Given the description of an element on the screen output the (x, y) to click on. 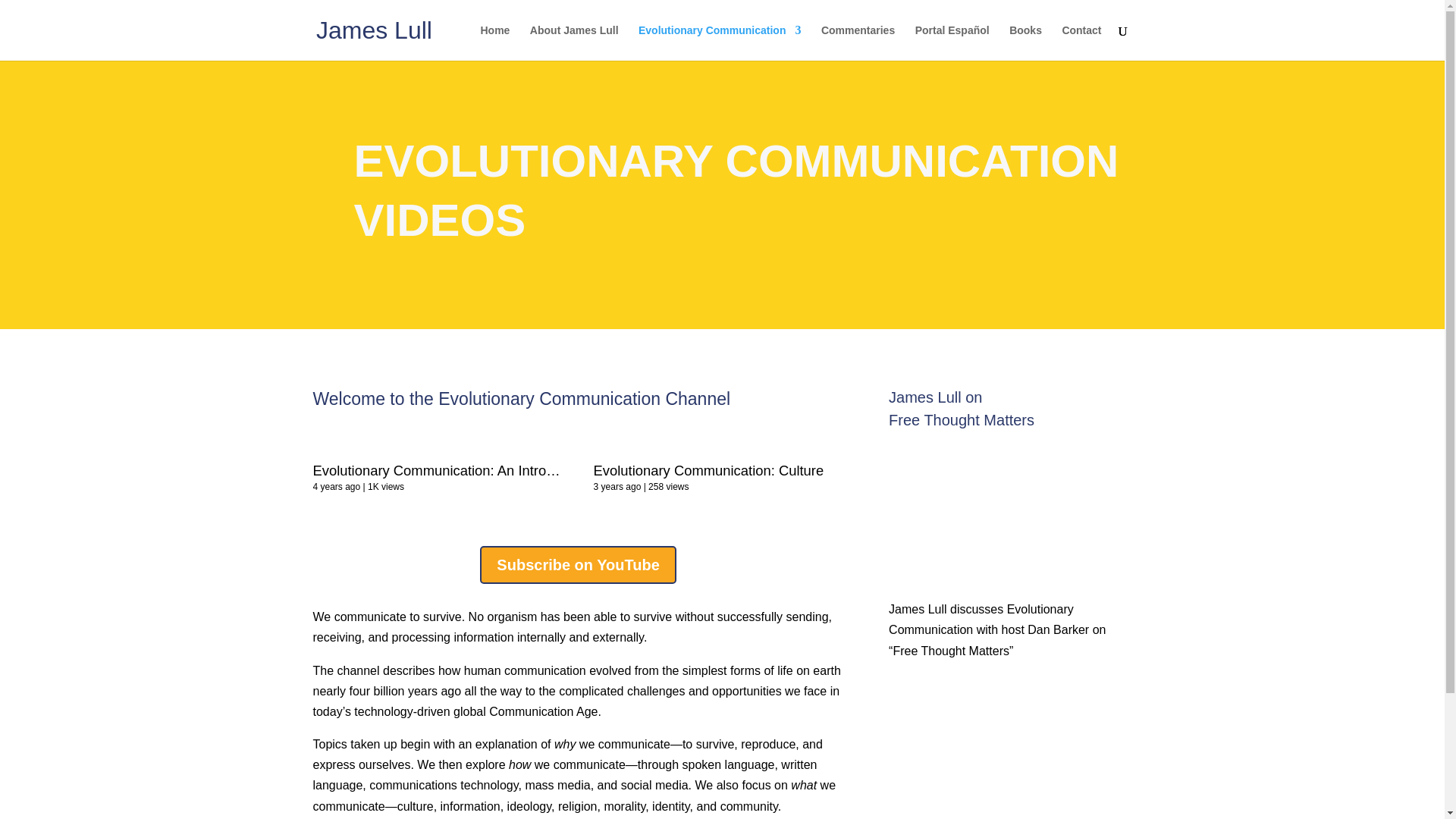
Evolutionary Communication: Culture (709, 470)
Evolutionary Communication (719, 42)
Evolutionary Communication: An Introduction (452, 470)
Commentaries (858, 42)
Books (1025, 42)
Evolutionary Communication: An Introduction (452, 470)
About James Lull (573, 42)
James Lull (373, 29)
Subscribe on YouTube (577, 564)
Contact (1080, 42)
Evolutionary Communication: Culture (844, 453)
Evolutionary Communication: Culture (709, 470)
James Lull: Evolutionary Communication (1009, 507)
Evolutionary Communication: An Introduction (563, 453)
